Given the description of an element on the screen output the (x, y) to click on. 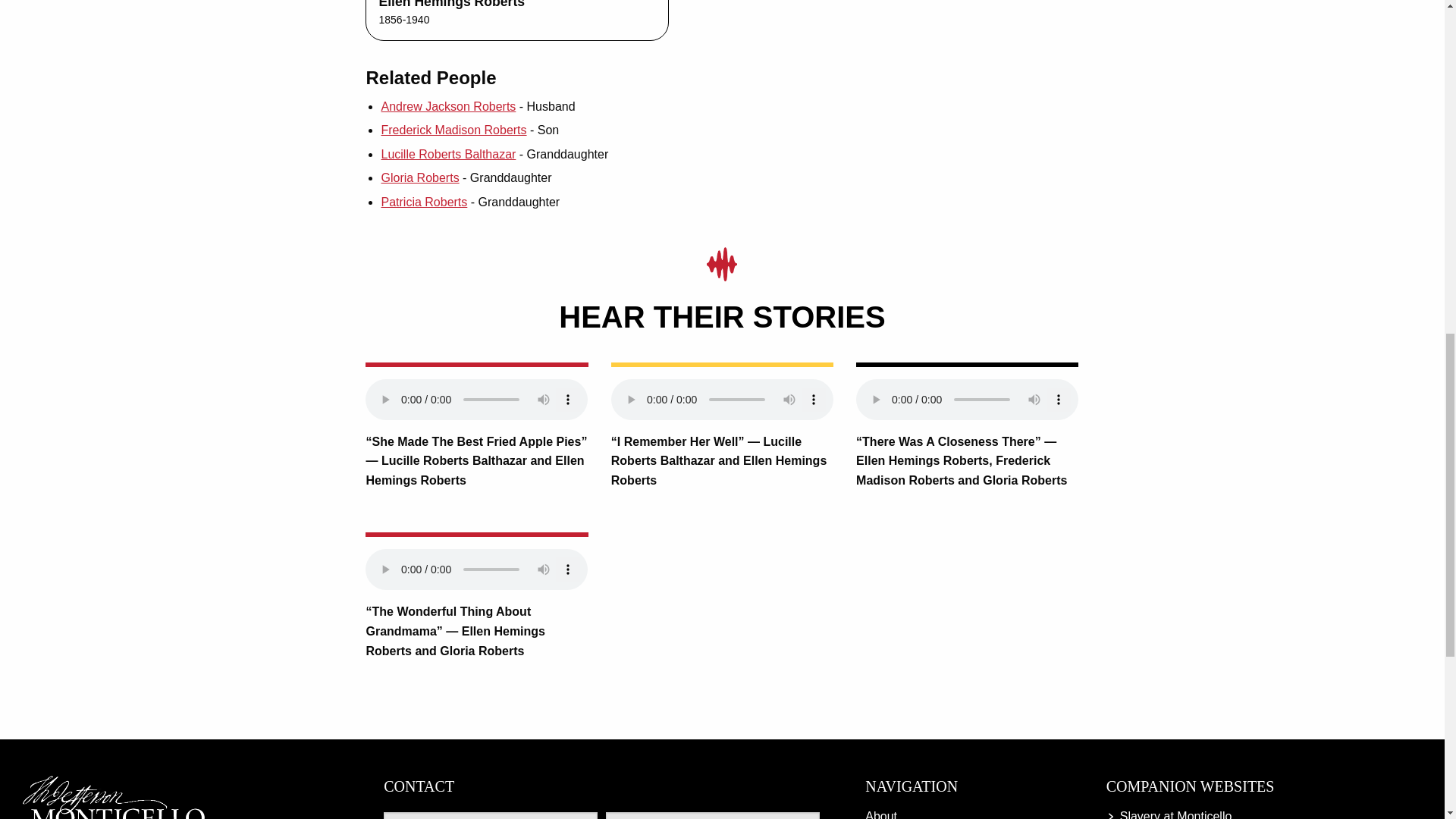
Frederick Madison Roberts (452, 129)
Patricia Roberts (423, 201)
Gloria Roberts (419, 177)
Frederick Madison Roberts (452, 129)
Andrew Jackson Roberts (447, 106)
About (962, 811)
Patricia Roberts (423, 201)
Lucille Roberts Balthazar (447, 154)
Gloria Roberts (419, 177)
Lucille Roberts Balthazar (447, 154)
Andrew Jackson Roberts (447, 106)
